Given the description of an element on the screen output the (x, y) to click on. 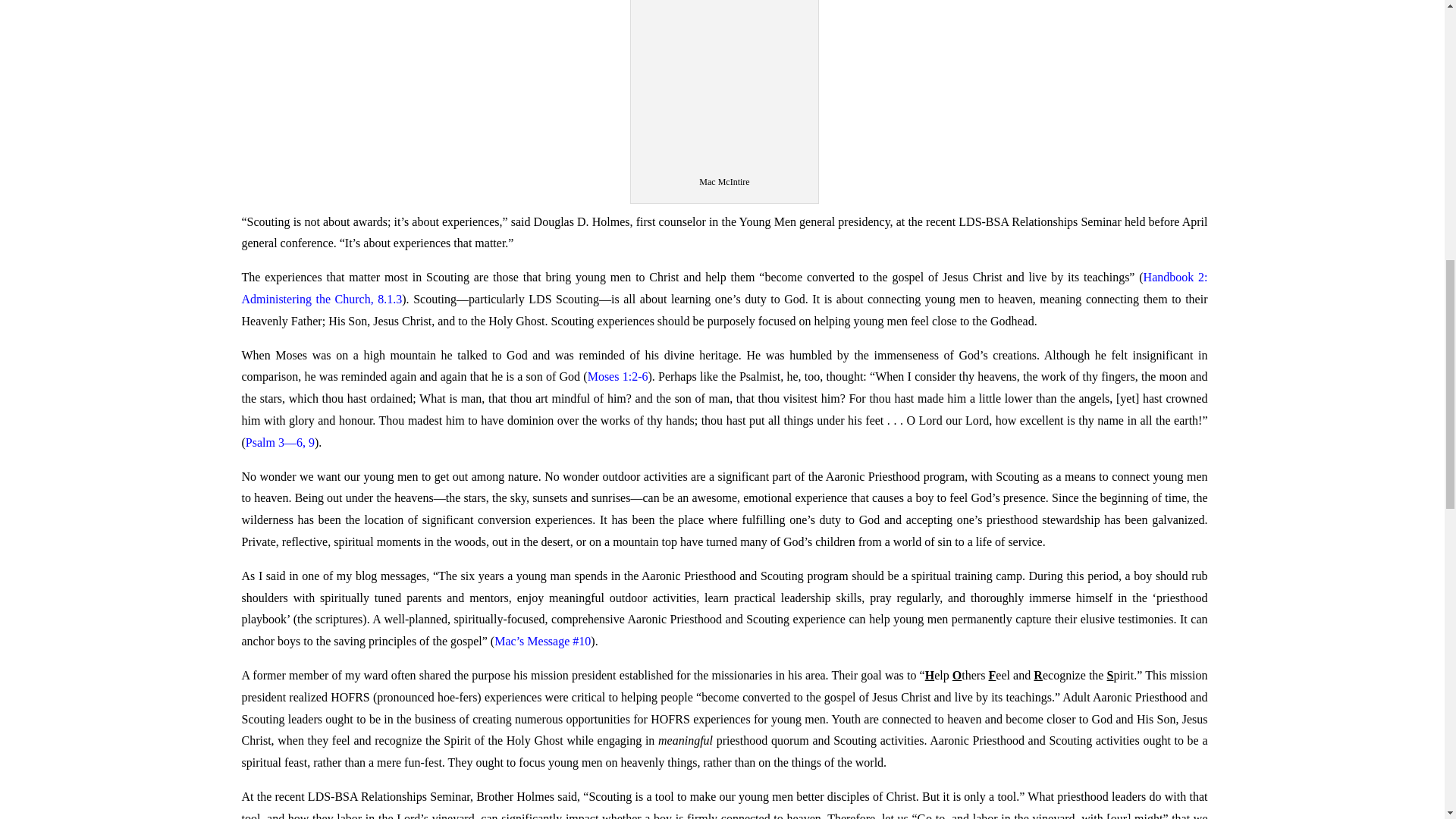
Handbook 2: Administering the Church, 8.1.3 (724, 288)
Moses 1:2-6 (617, 376)
